Given the description of an element on the screen output the (x, y) to click on. 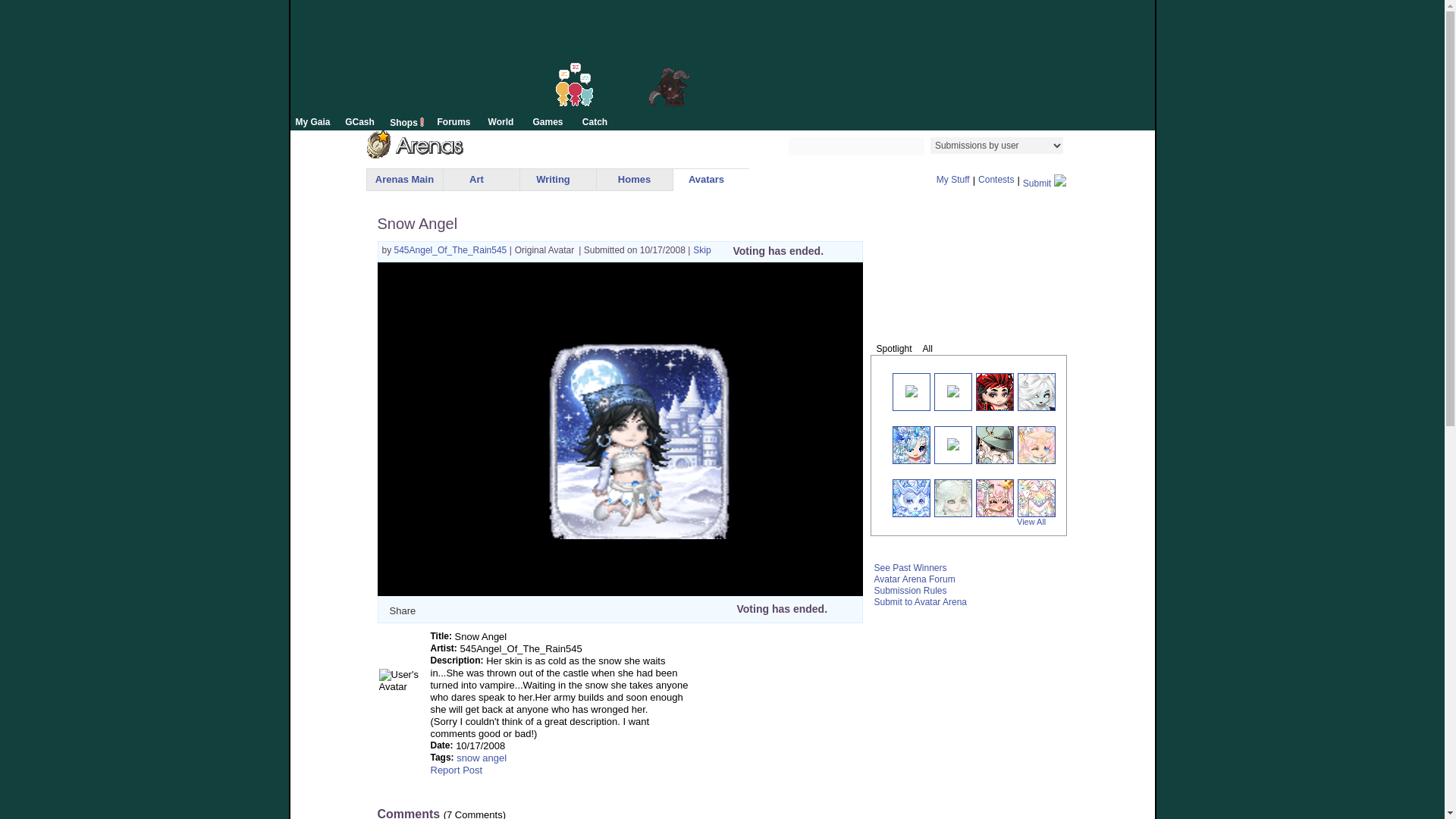
Login (1043, 11)
My Gaia (311, 121)
Forums (453, 121)
Writing (552, 179)
Shops ! (406, 121)
Catch (594, 121)
submit (1074, 146)
Skip (701, 249)
Avatars (705, 179)
Grim Goat Package (668, 71)
